Given the description of an element on the screen output the (x, y) to click on. 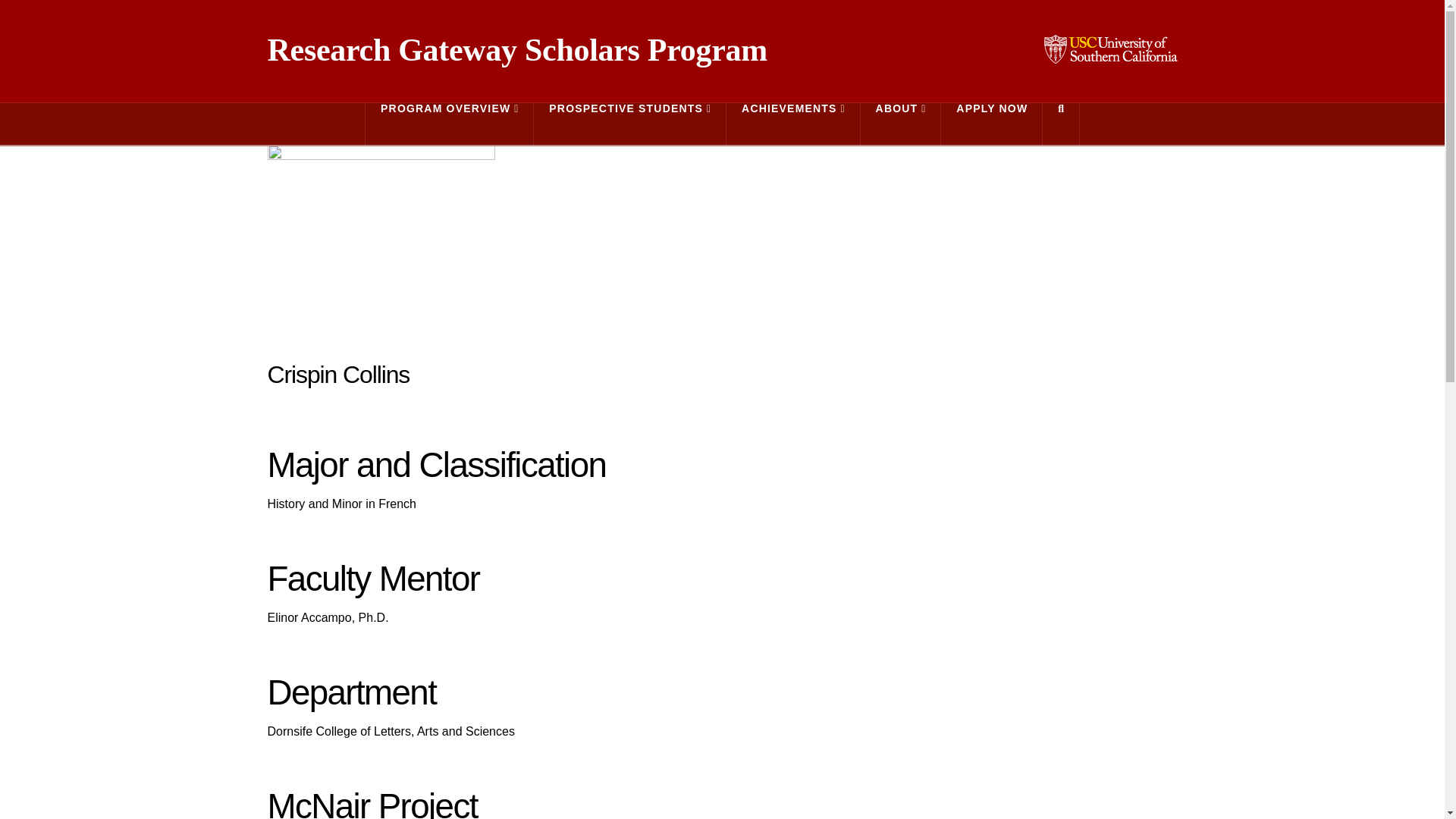
ACHIEVEMENTS (793, 123)
Research Gateway Scholars Program (516, 50)
ABOUT (901, 123)
PROSPECTIVE STUDENTS (630, 123)
APPLY NOW (991, 123)
PROGRAM OVERVIEW (449, 123)
University of Southern California (1109, 46)
